Given the description of an element on the screen output the (x, y) to click on. 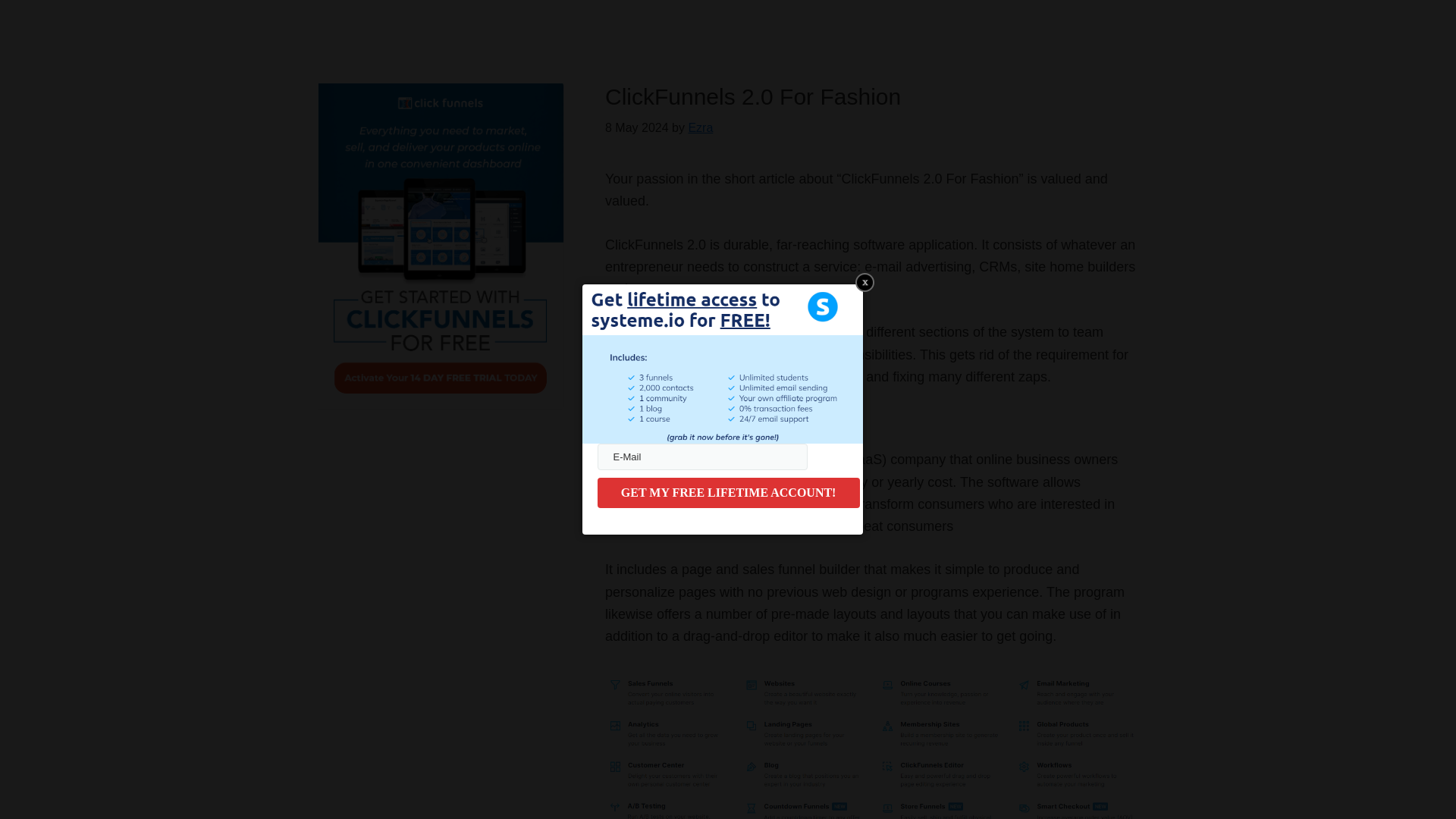
Ezra (700, 127)
GET MY FREE LIFETIME ACCOUNT! (728, 492)
GET MY FREE LIFETIME ACCOUNT! (728, 492)
